Given the description of an element on the screen output the (x, y) to click on. 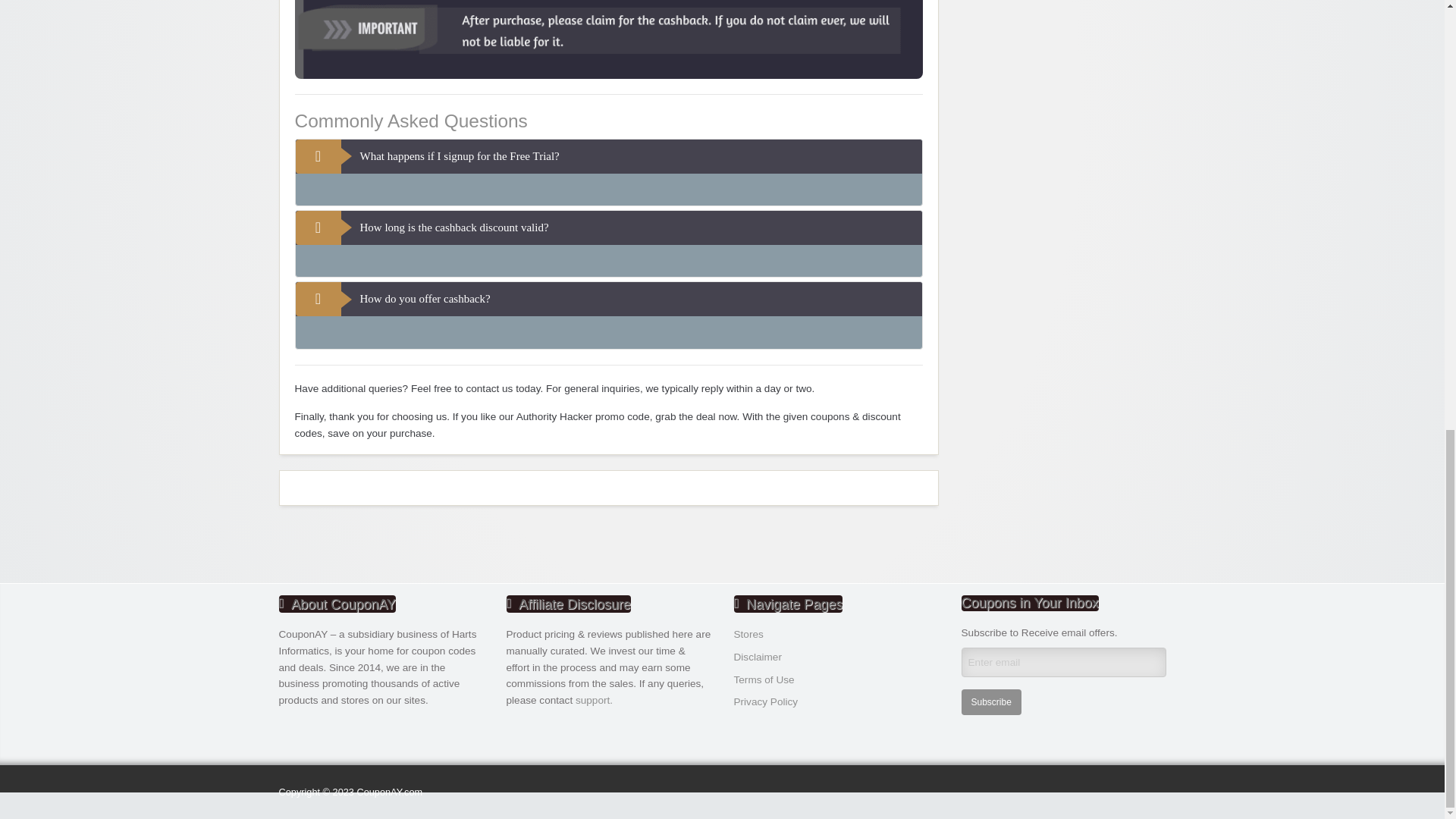
Stores (747, 633)
support. (593, 699)
Subscribe (991, 701)
How long is the cashback discount valid? (608, 227)
Terms of Use (763, 679)
How do you offer cashback? (608, 298)
What happens if I signup for the Free Trial? (608, 156)
Disclaimer (757, 656)
Privacy Policy (765, 701)
